Given the description of an element on the screen output the (x, y) to click on. 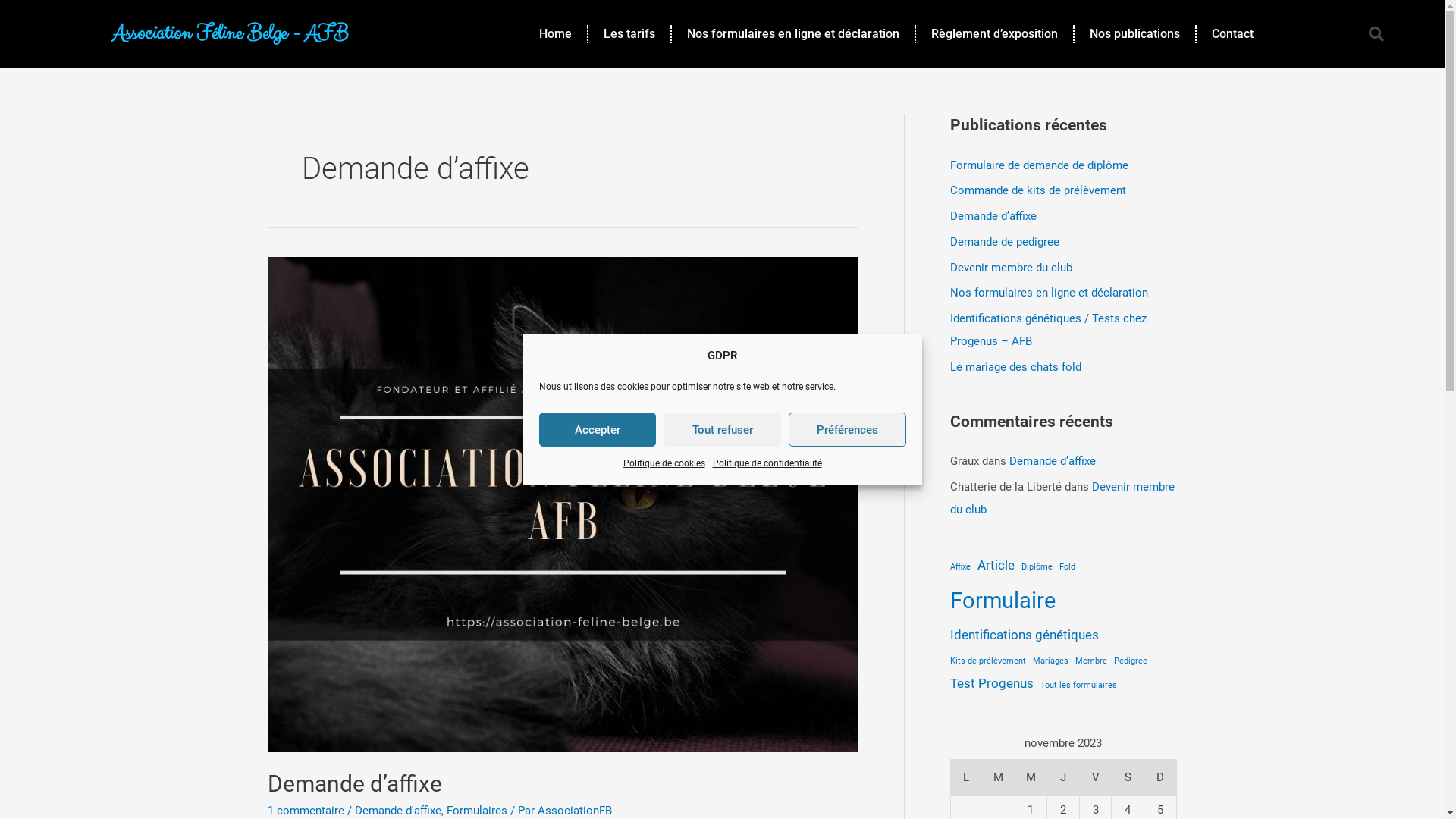
Membre Element type: text (1091, 660)
AssociationFB Element type: text (573, 810)
Devenir membre du club Element type: text (1061, 498)
Test Progenus Element type: text (990, 683)
Pedigree Element type: text (1129, 660)
Devenir membre du club Element type: text (1010, 267)
Mariages Element type: text (1050, 660)
Nos publications Element type: text (1134, 33)
Article Element type: text (994, 565)
Demande de pedigree Element type: text (1003, 241)
Home Element type: text (555, 33)
Fold Element type: text (1066, 566)
1 commentaire Element type: text (304, 810)
Politique de cookies Element type: text (664, 463)
Tout refuser Element type: text (722, 429)
Tout les formulaires Element type: text (1078, 685)
Formulaire Element type: text (1001, 600)
Formulaires Element type: text (475, 810)
Contact Element type: text (1232, 33)
Accepter Element type: text (596, 429)
Les tarifs Element type: text (629, 33)
Le mariage des chats fold Element type: text (1014, 366)
Affixe Element type: text (959, 566)
Demande d'affixe Element type: text (397, 810)
